Given the description of an element on the screen output the (x, y) to click on. 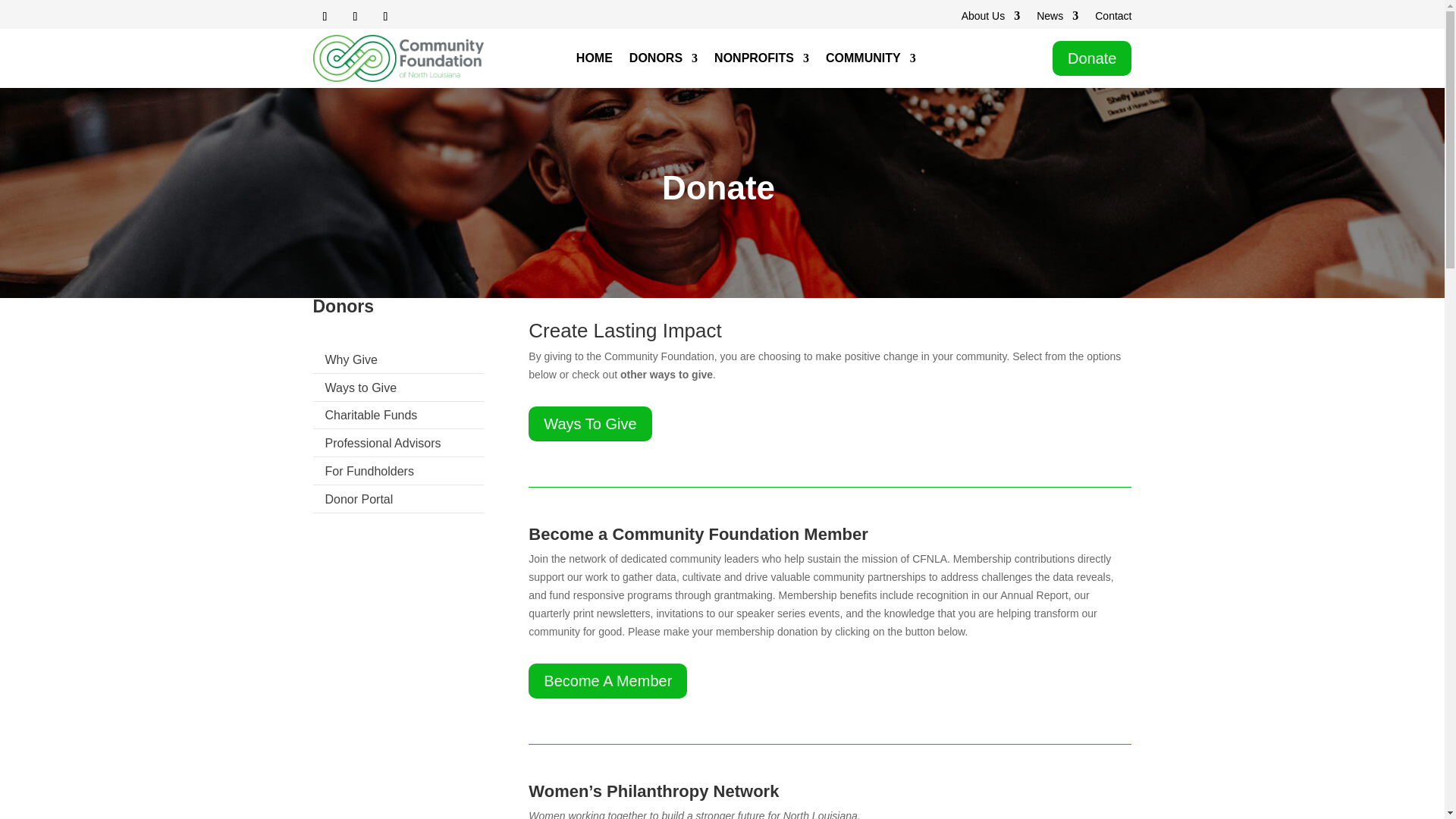
Contact (1112, 18)
News (1057, 18)
Community Foundation Logo (398, 58)
Follow on Facebook (324, 16)
Follow on Instagram (354, 16)
DONORS (662, 61)
About Us (990, 18)
HOME (594, 61)
COMMUNITY (870, 61)
NONPROFITS (761, 61)
